Given the description of an element on the screen output the (x, y) to click on. 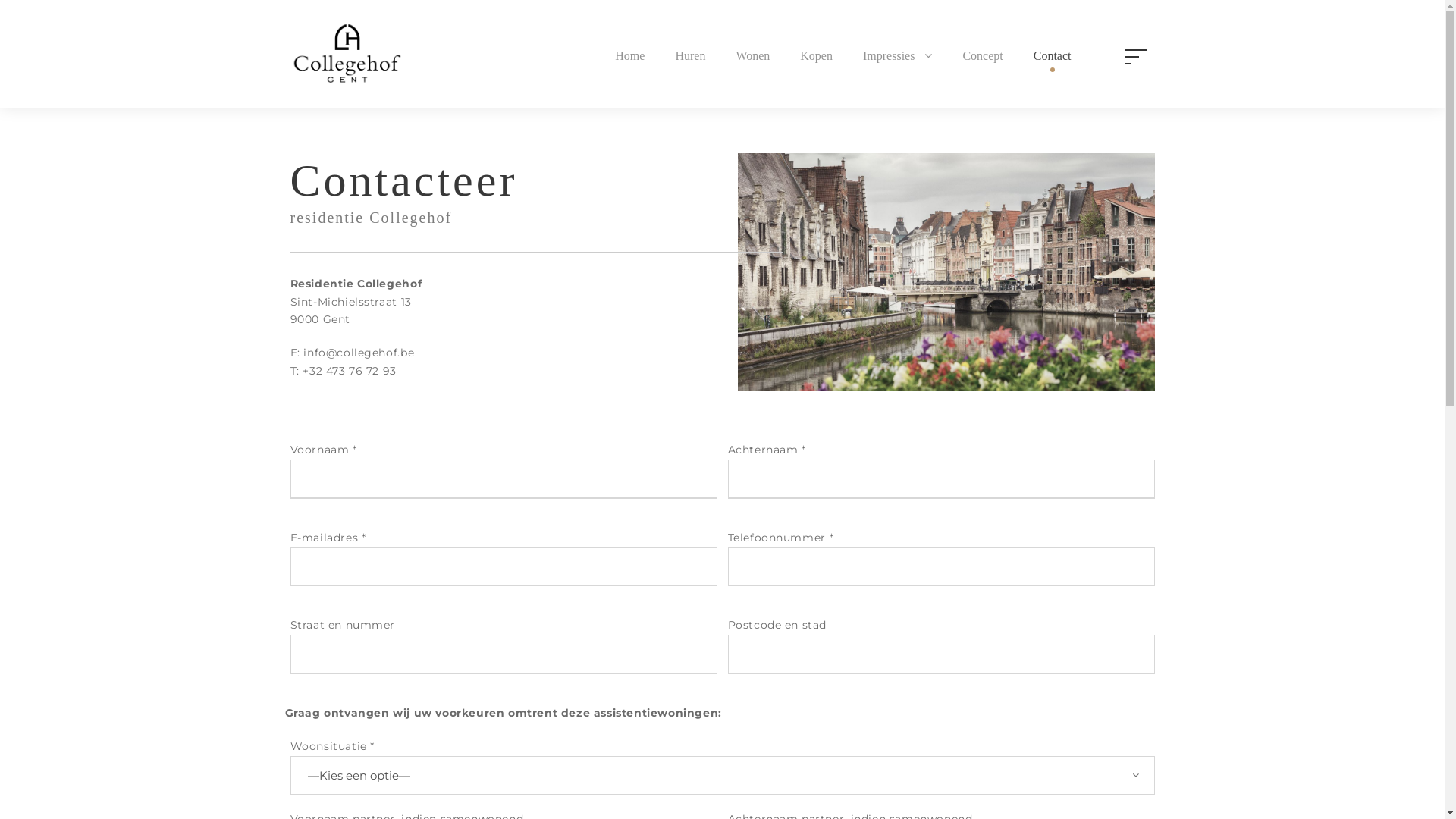
Impressies Element type: text (896, 58)
Concept Element type: text (982, 58)
Kopen Element type: text (816, 58)
Home Element type: text (629, 58)
5 Element type: hover (945, 272)
logo-collegehof Element type: hover (346, 53)
Wonen Element type: text (752, 58)
Huren Element type: text (689, 58)
Contact Element type: text (1052, 58)
